Given the description of an element on the screen output the (x, y) to click on. 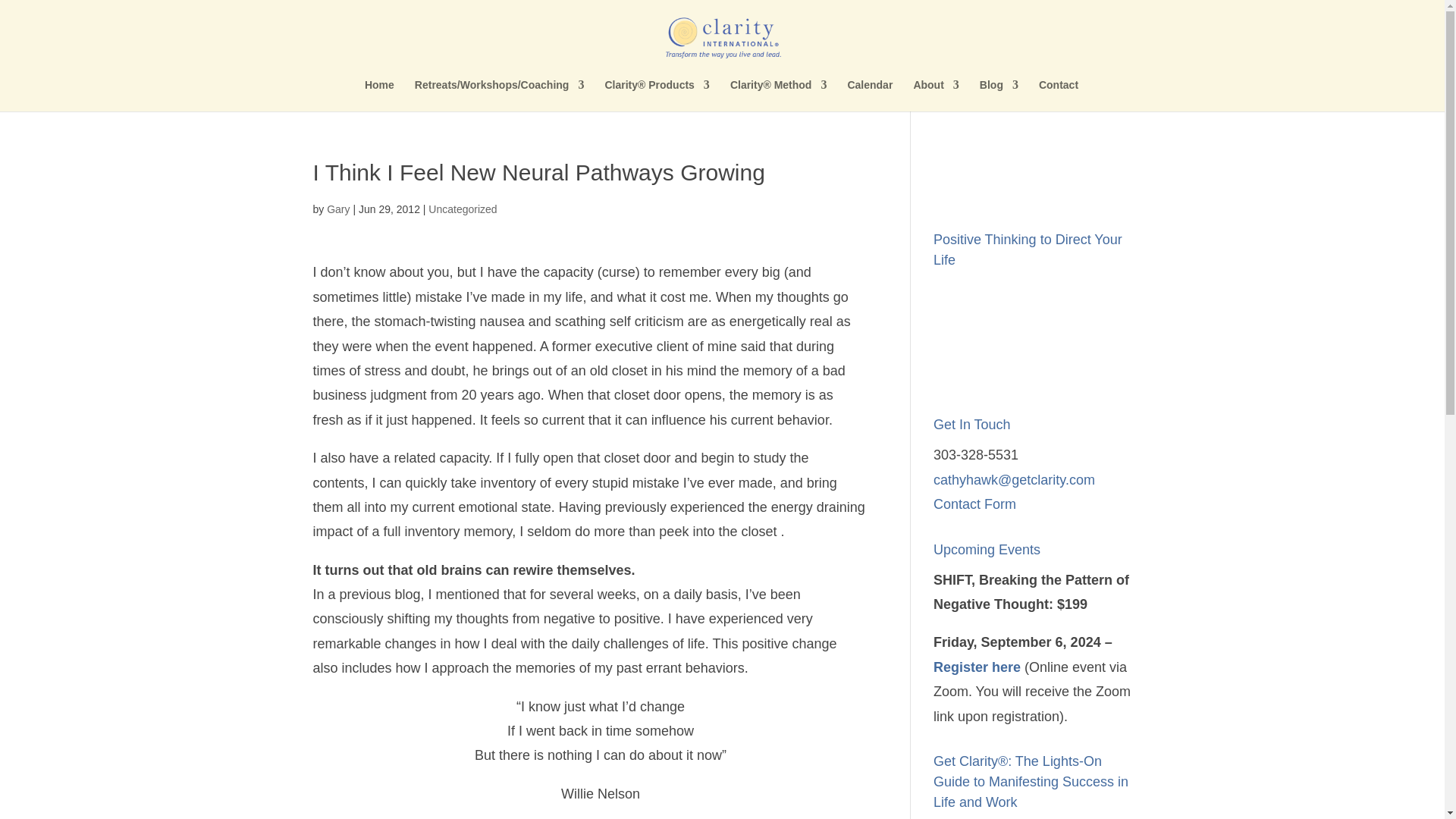
Contact (1058, 95)
Email Us (1013, 479)
Contact Form (974, 503)
Posts by Gary (337, 209)
About (935, 95)
Home (379, 95)
Blog (998, 95)
Calendar (869, 95)
fb:like Facebook Social Plugin (1032, 177)
